Given the description of an element on the screen output the (x, y) to click on. 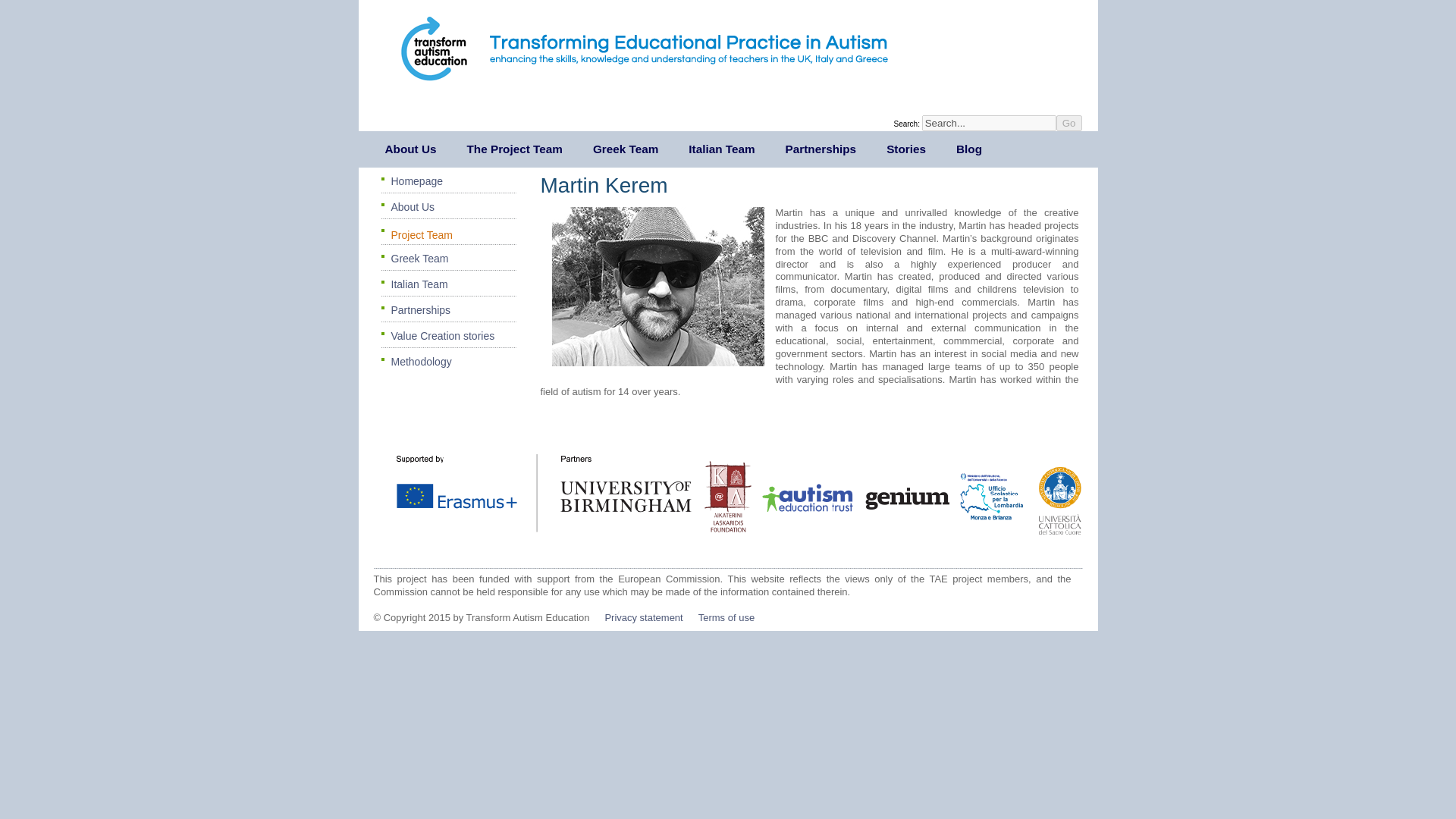
Blog (968, 148)
About Us (447, 209)
The Project Team (513, 148)
Project Team (447, 234)
Value Creation stories (447, 338)
Stories (906, 148)
Go to About Us from here (447, 209)
Go to Partnerships from here (447, 312)
About Us (410, 148)
Greek Team (625, 148)
